Given the description of an element on the screen output the (x, y) to click on. 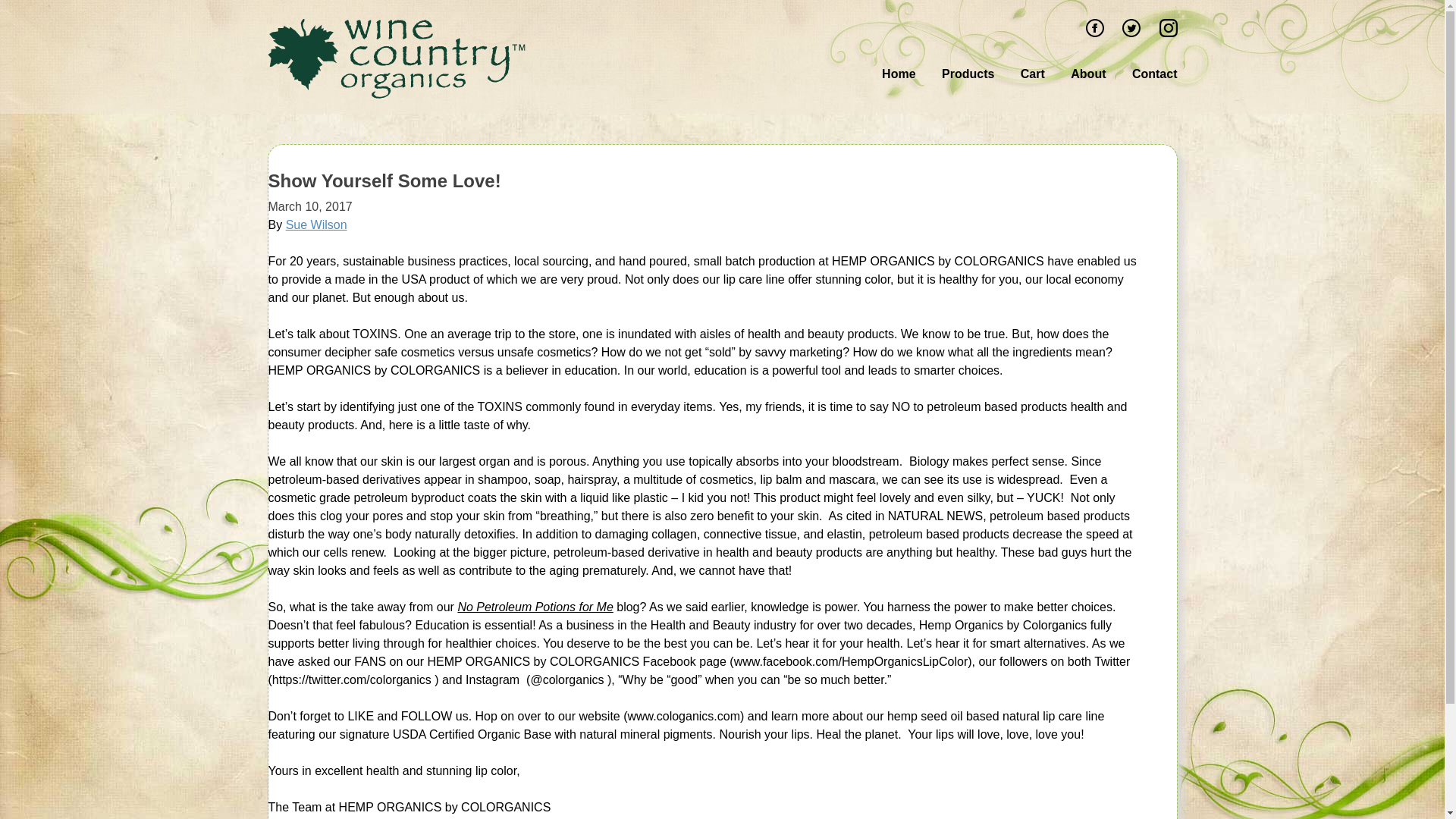
Products (968, 73)
Home (898, 73)
Cart (1033, 73)
Contact (1149, 73)
About (1087, 73)
Sue Wilson (316, 224)
